Given the description of an element on the screen output the (x, y) to click on. 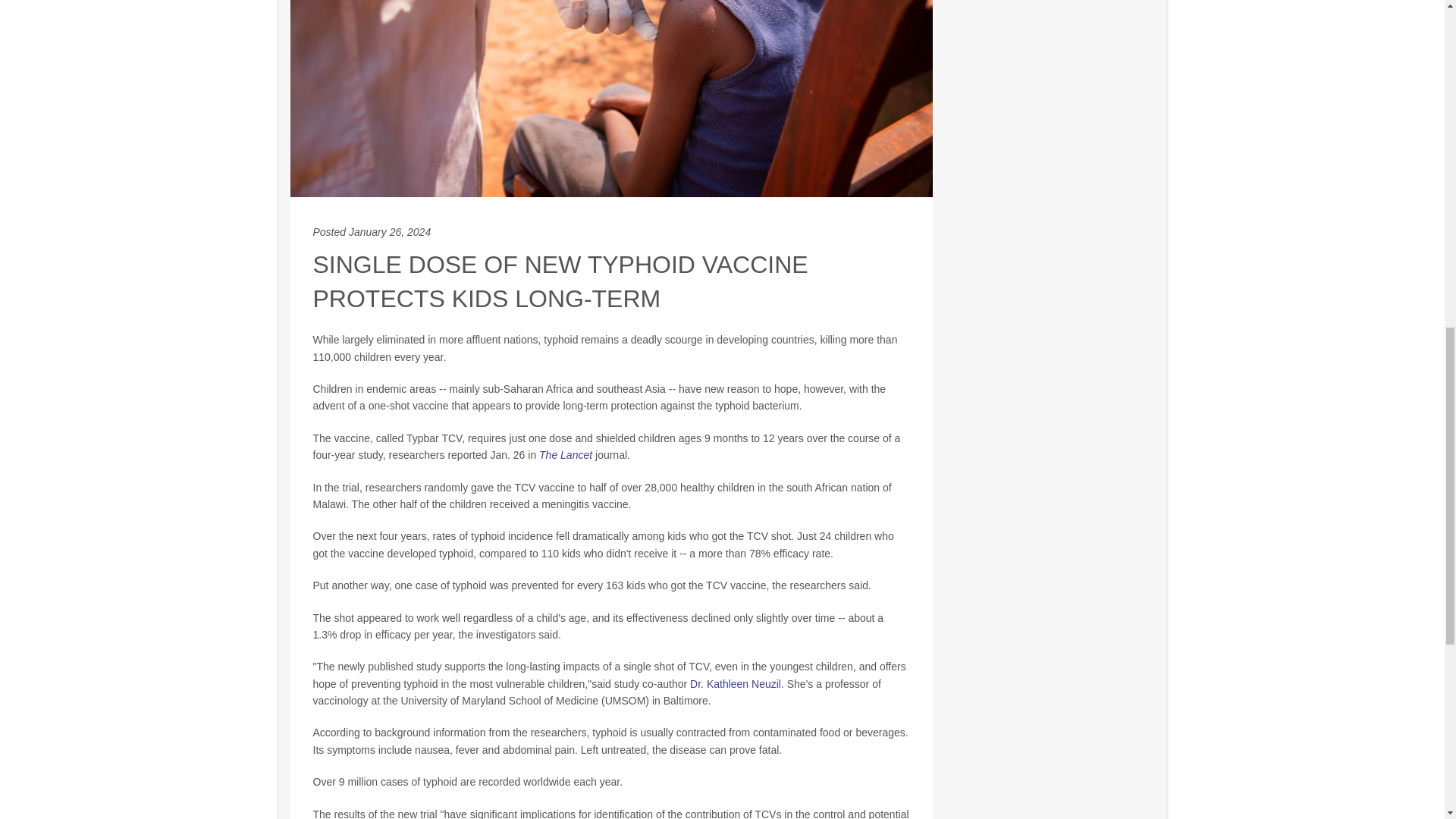
The Lancet (565, 454)
Dr. Kathleen Neuzil (735, 684)
